Given the description of an element on the screen output the (x, y) to click on. 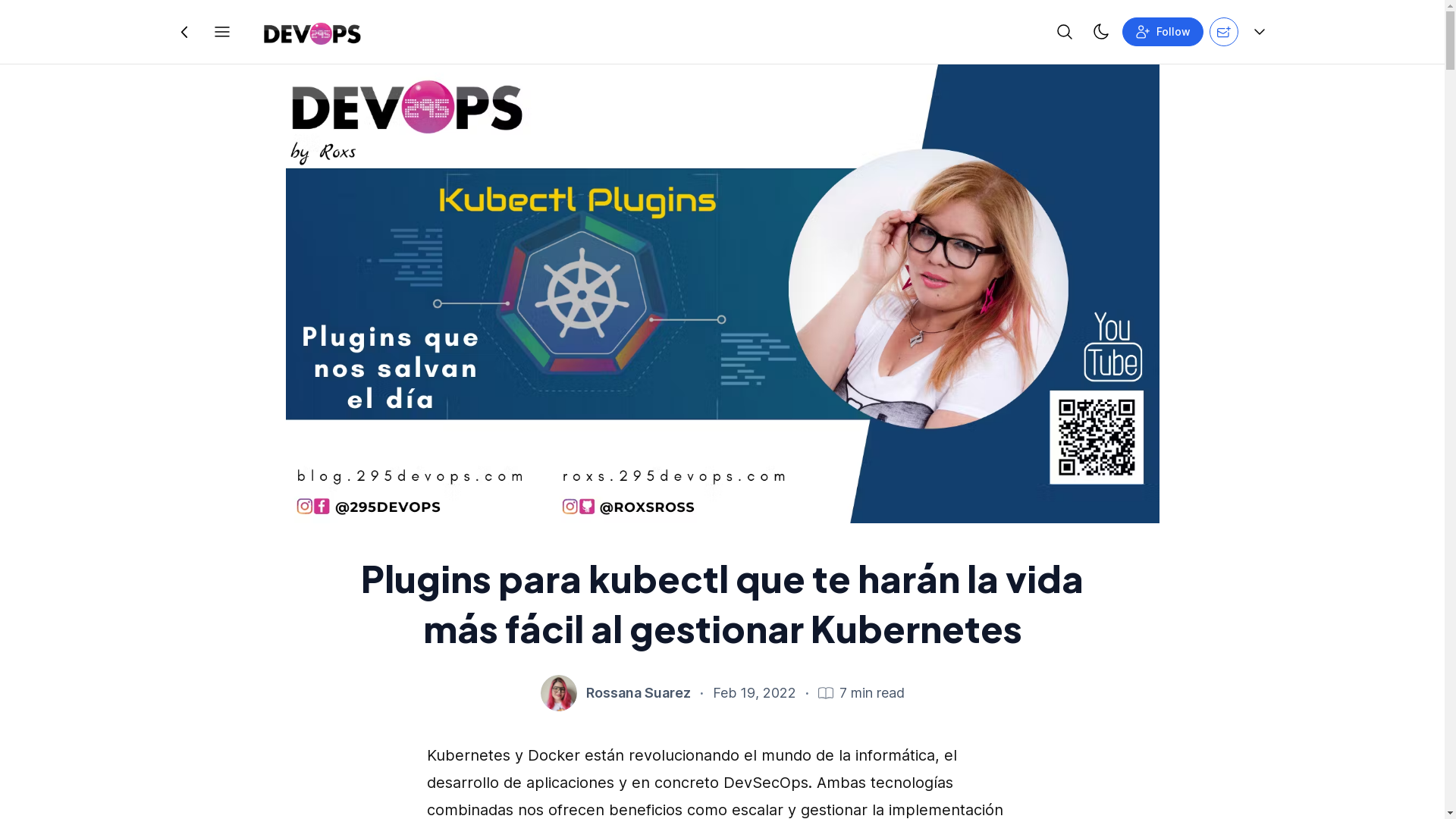
Feb 19, 2022 Element type: text (754, 692)
Follow Element type: text (1162, 31)
Rossana Suarez Element type: text (637, 692)
